Given the description of an element on the screen output the (x, y) to click on. 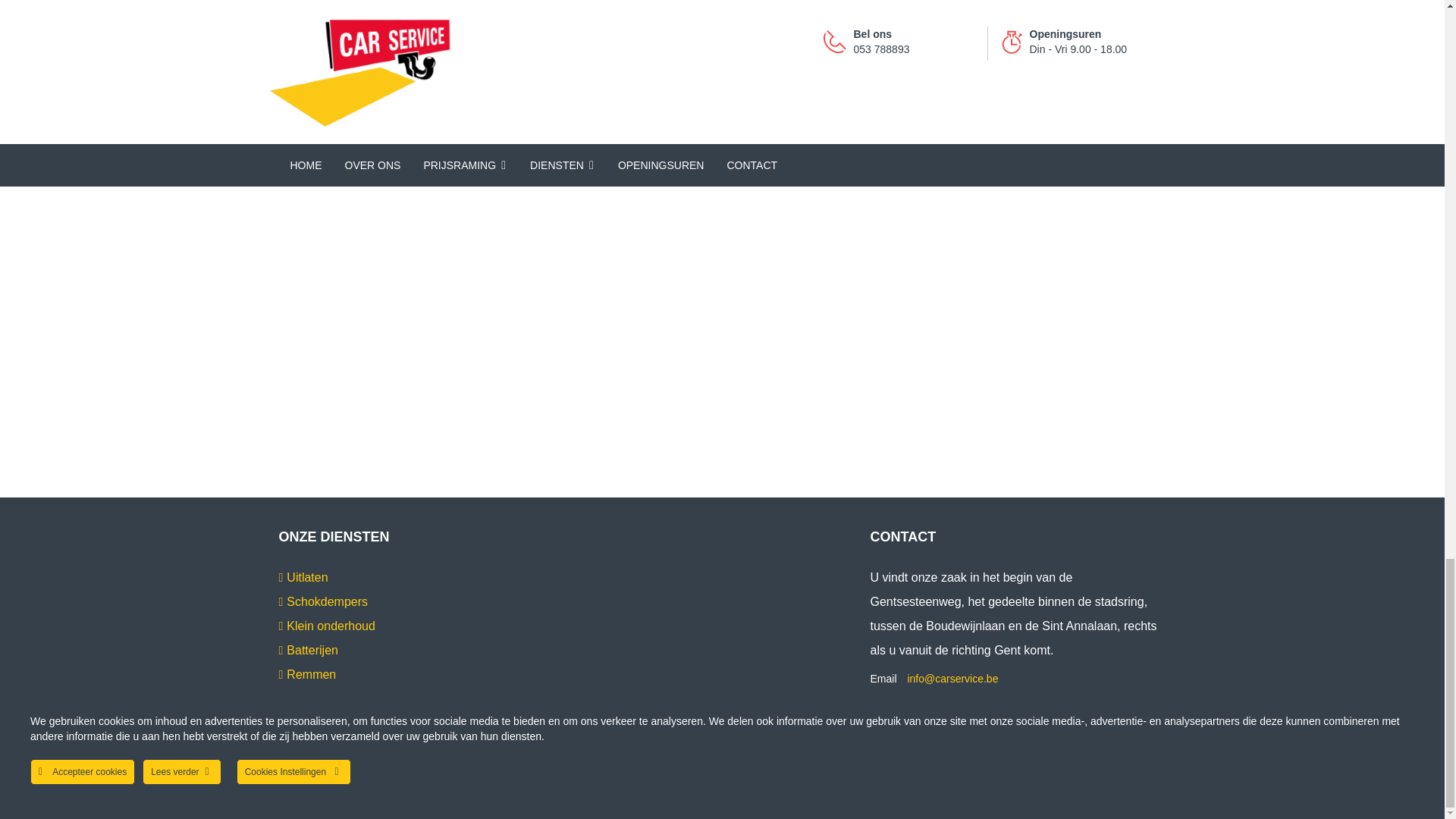
Uitlaten (304, 580)
Batterijen (308, 653)
TripleTouch SRL (643, 783)
Remmen (307, 678)
Fietsendragers (323, 726)
053 788893 (939, 704)
Trekhaken (311, 702)
Klein onderhoud (327, 629)
Schokdempers (323, 605)
Algemene voorwaarden (554, 798)
Juridische kennisgeving (335, 798)
Gebruiksvoorwaarden (445, 798)
